Given the description of an element on the screen output the (x, y) to click on. 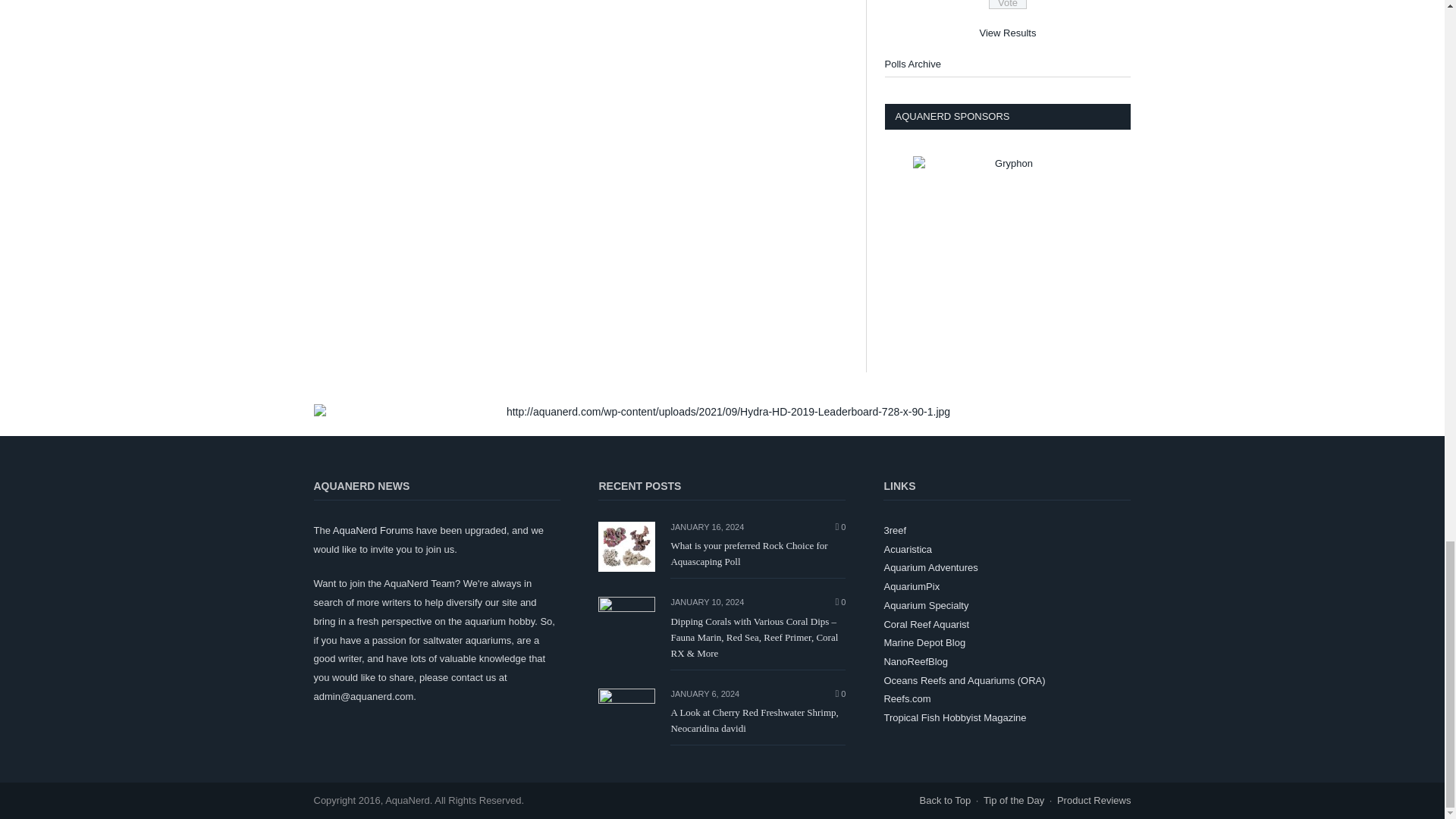
   Vote    (1007, 4)
